Given the description of an element on the screen output the (x, y) to click on. 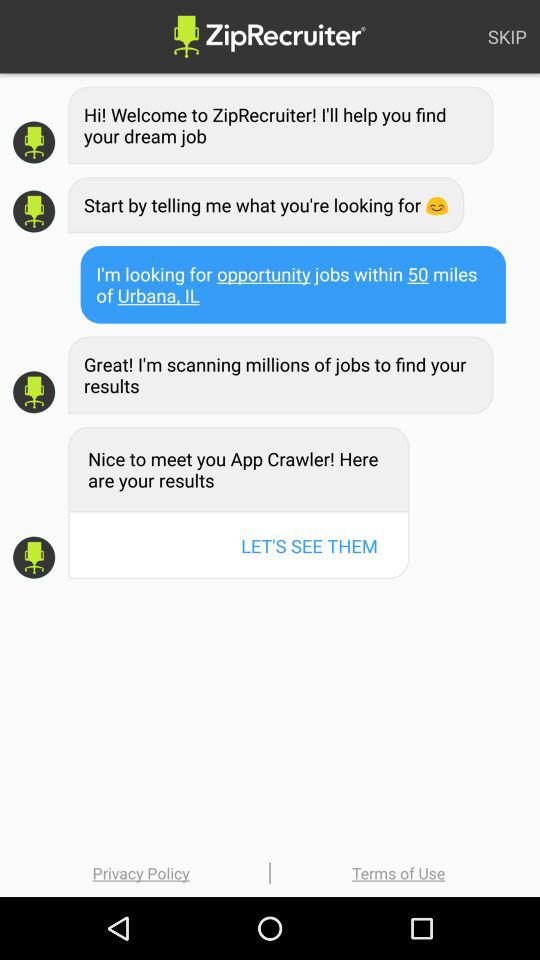
turn off item below the nice to meet (309, 545)
